Given the description of an element on the screen output the (x, y) to click on. 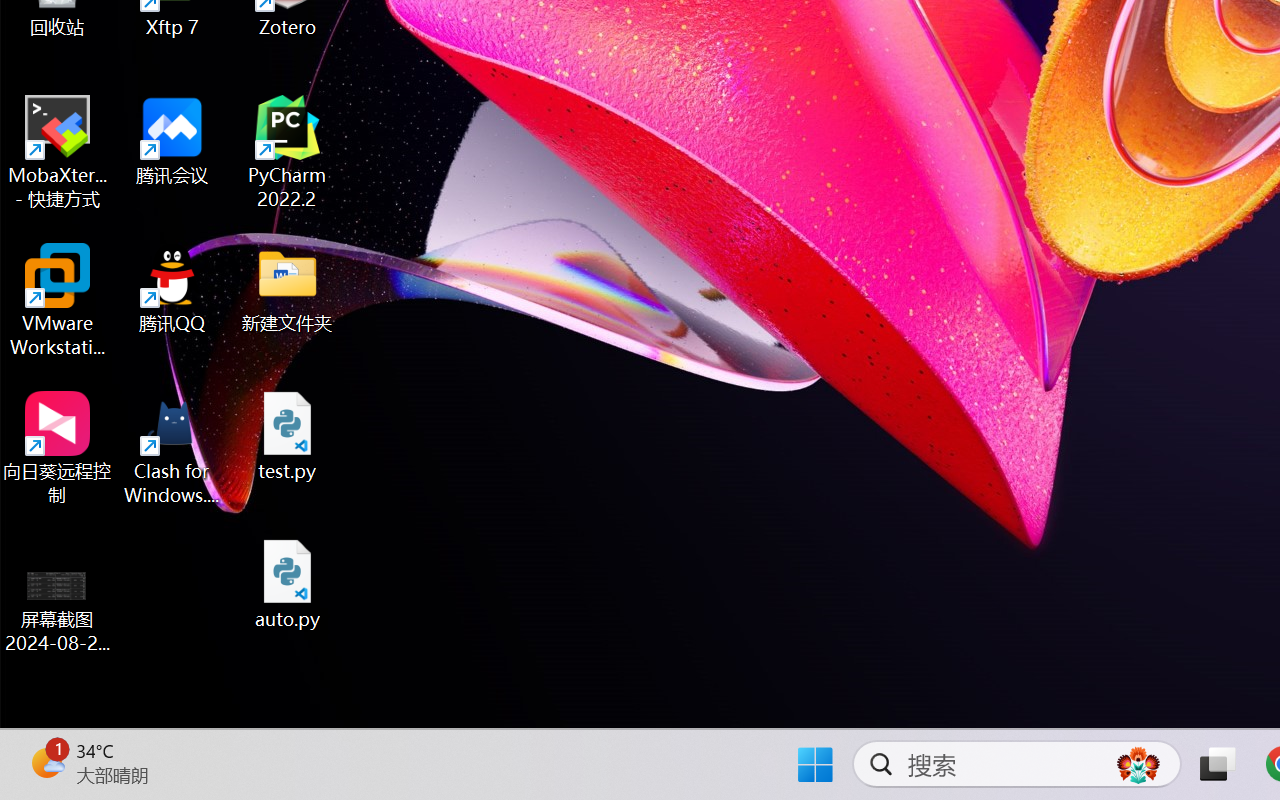
VMware Workstation Pro (57, 300)
auto.py (287, 584)
test.py (287, 436)
